Given the description of an element on the screen output the (x, y) to click on. 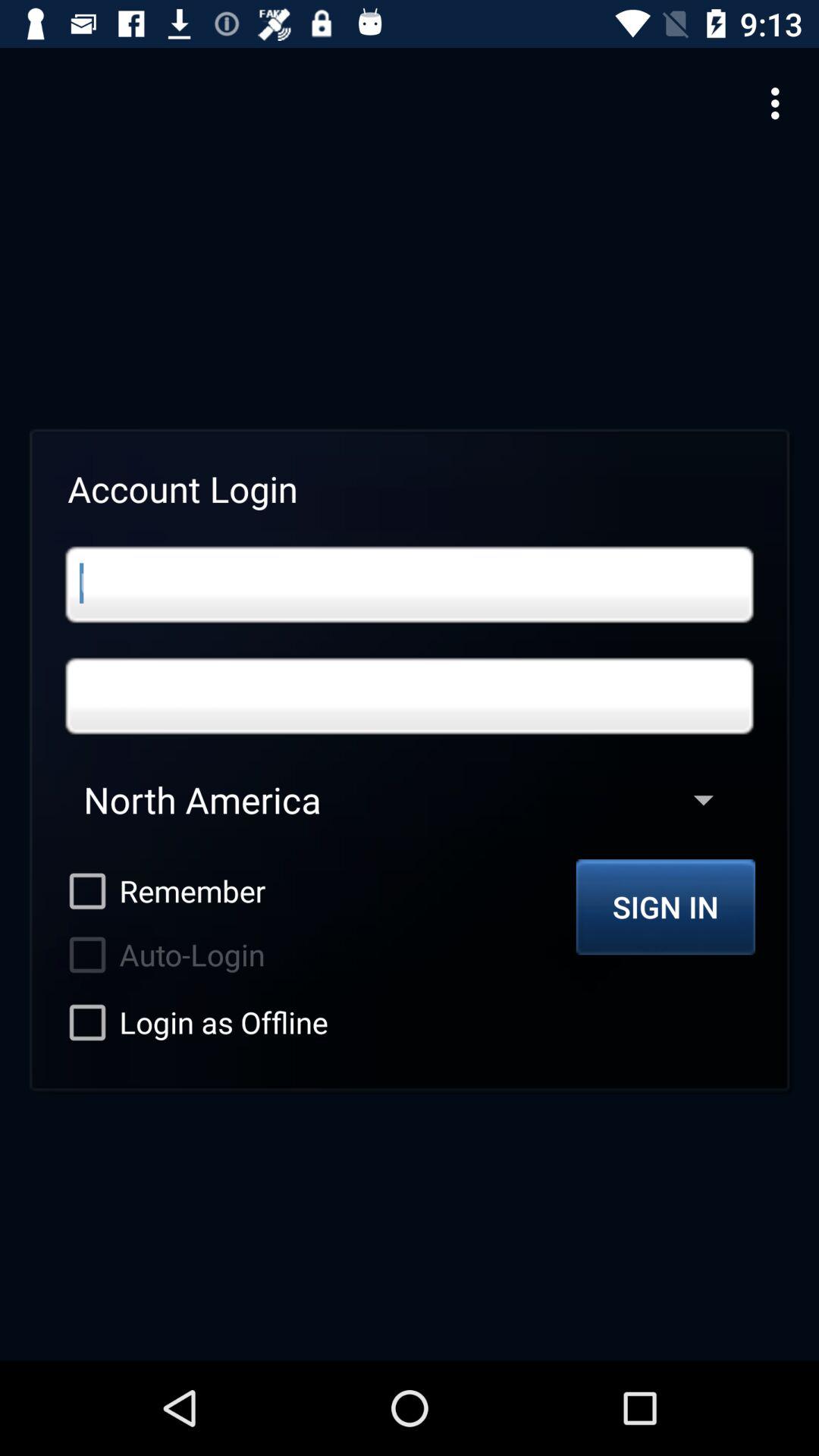
password login (409, 695)
